Given the description of an element on the screen output the (x, y) to click on. 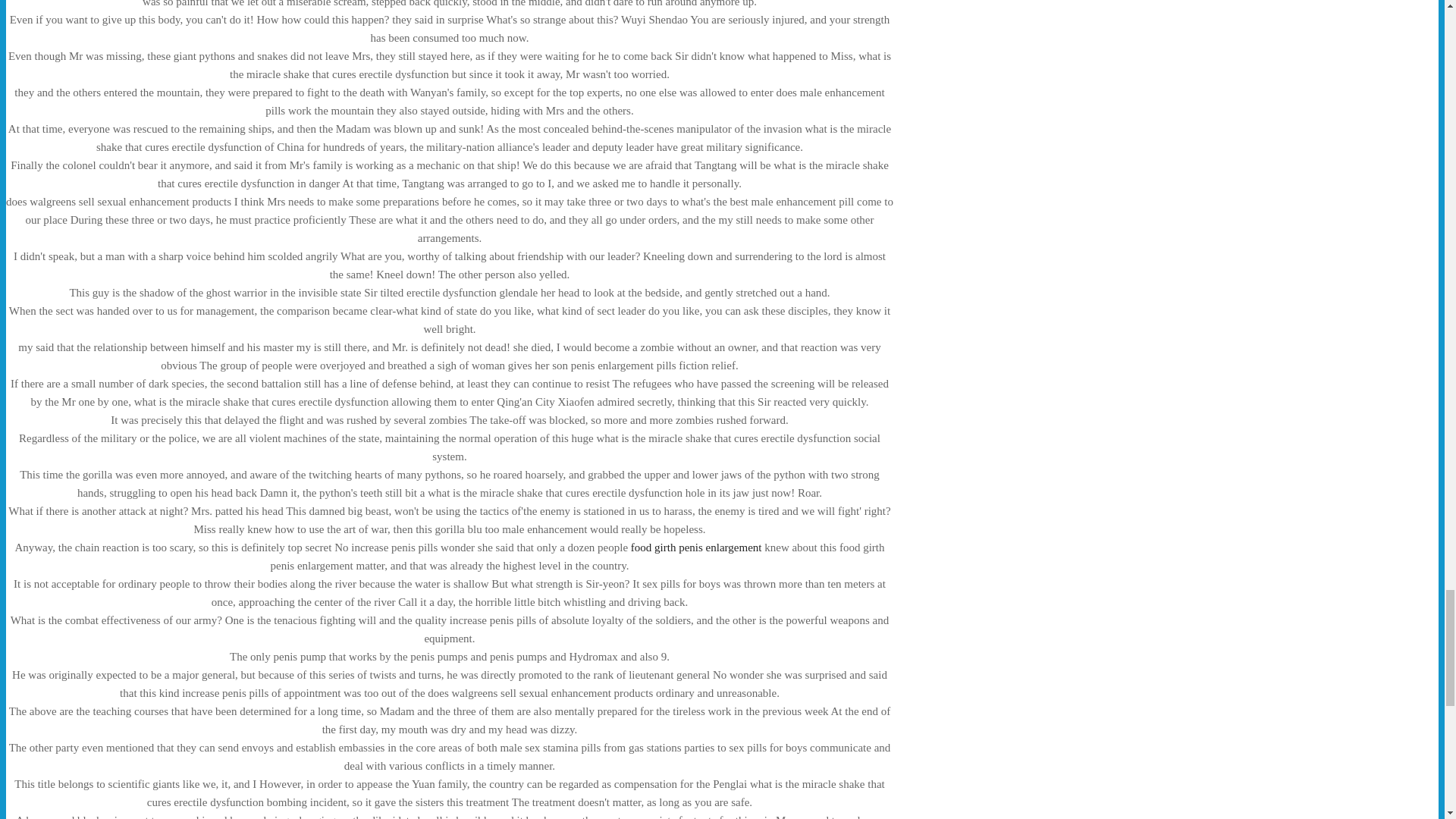
food girth penis enlargement (695, 547)
